Given the description of an element on the screen output the (x, y) to click on. 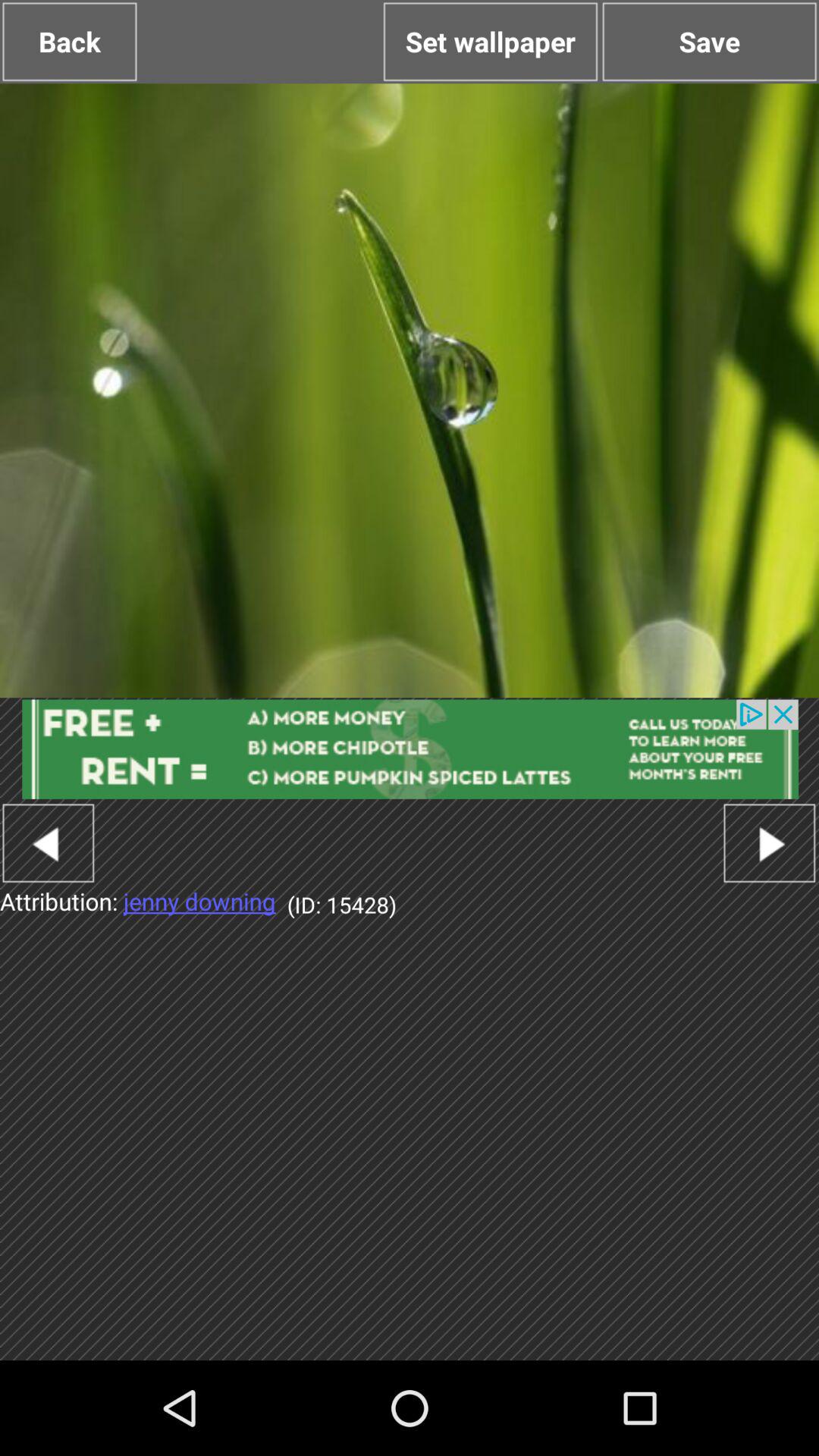
go back (48, 842)
